Given the description of an element on the screen output the (x, y) to click on. 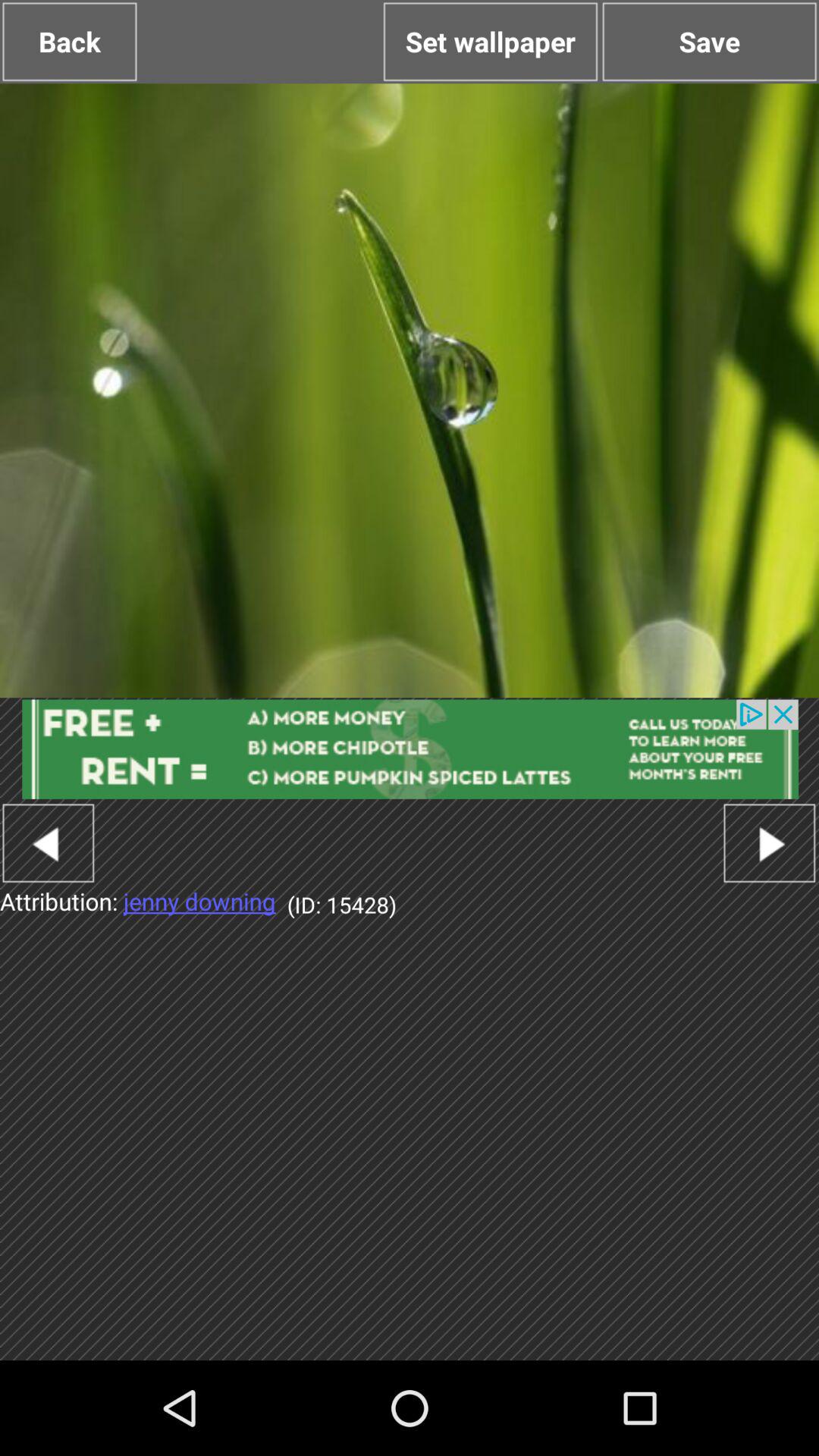
go back (48, 842)
